Given the description of an element on the screen output the (x, y) to click on. 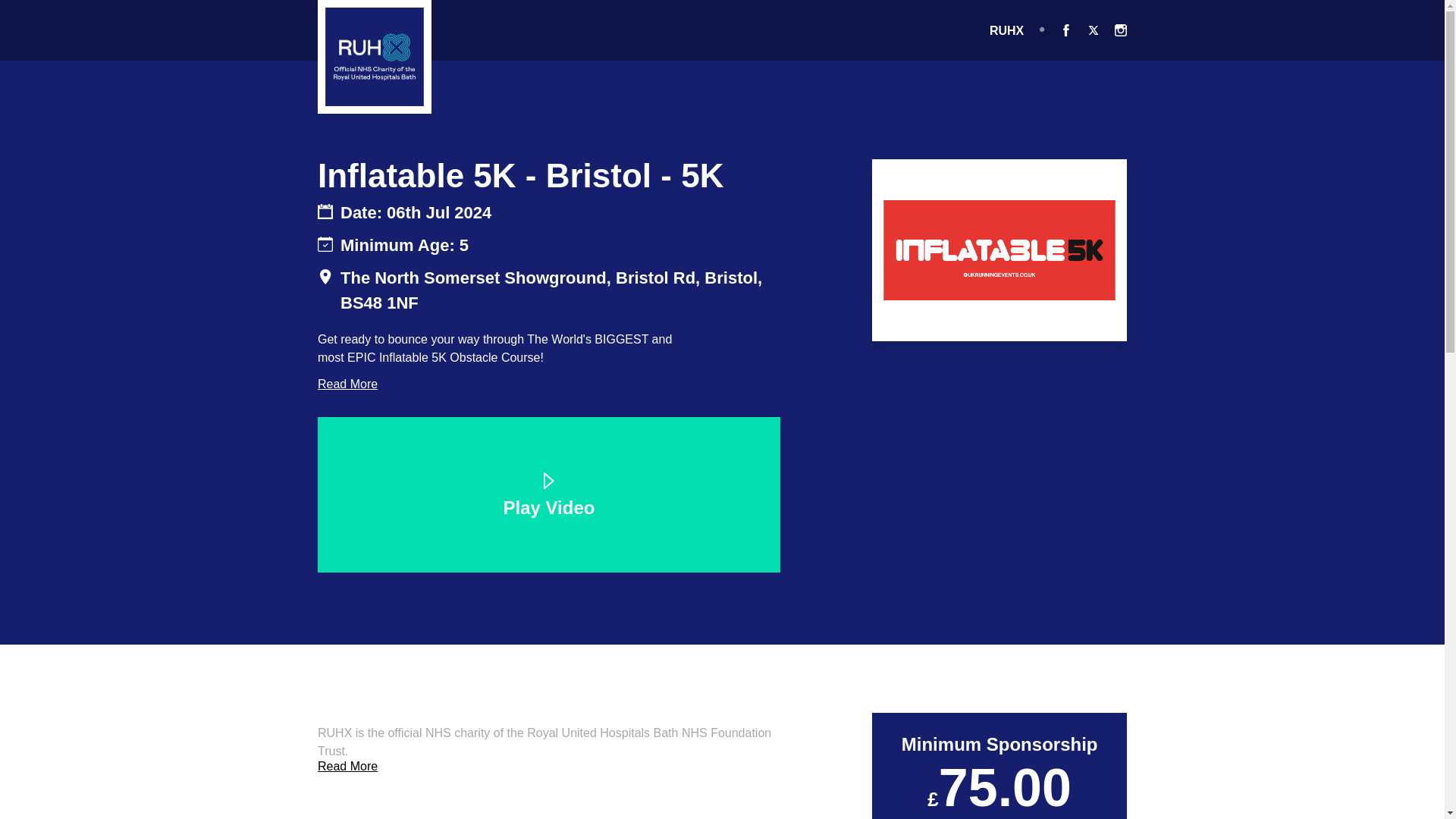
Facebook (1065, 30)
Instagram (1120, 30)
Play Video (548, 497)
Twitter (1093, 30)
